Given the description of an element on the screen output the (x, y) to click on. 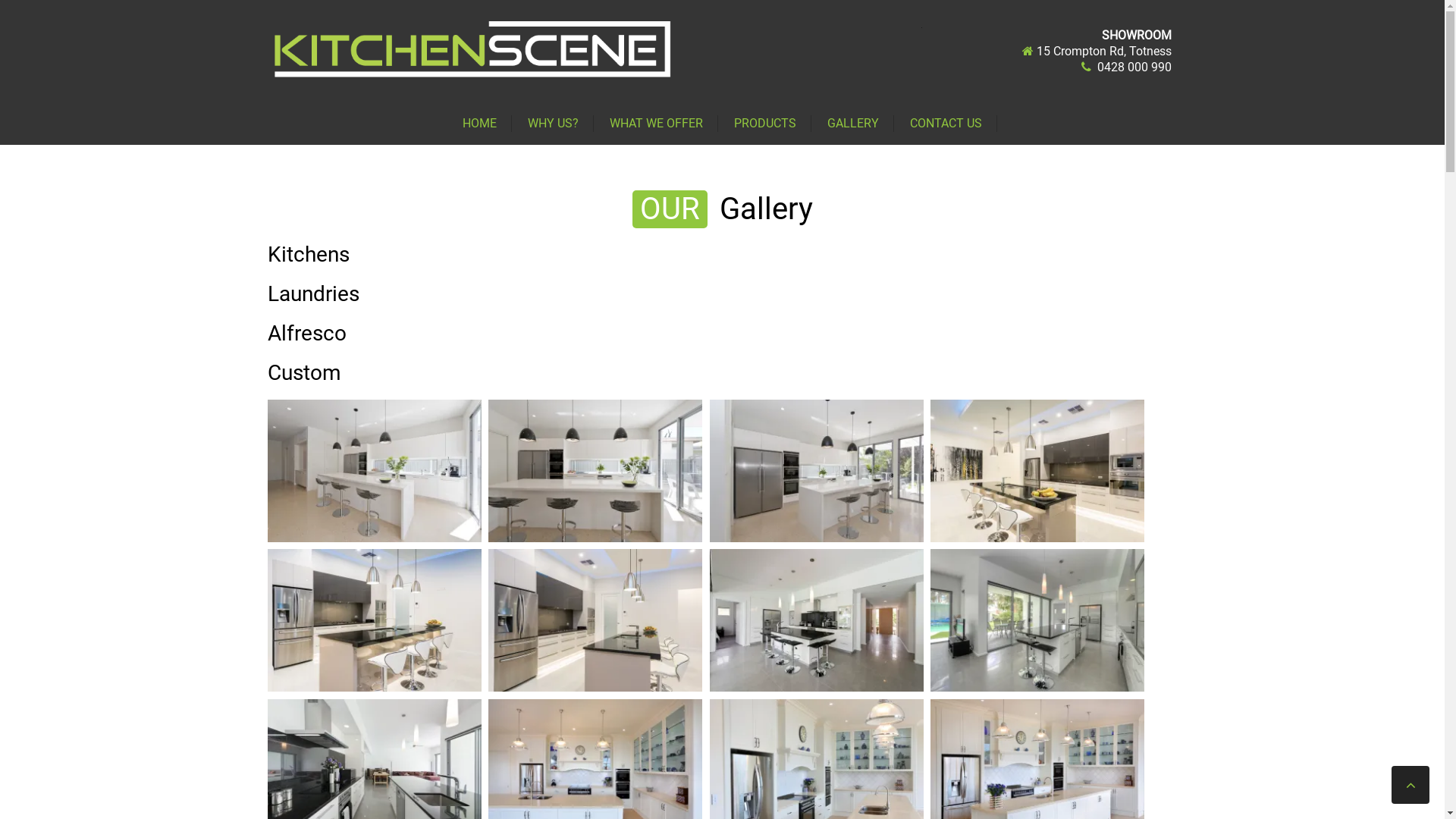
HOME Element type: text (479, 123)
GALLERY Element type: text (853, 123)
Laundries Element type: text (312, 293)
WHY US? Element type: text (552, 123)
CONTACT US Element type: text (945, 123)
Custom Element type: text (303, 372)
PRODUCTS Element type: text (764, 123)
Alfresco Element type: text (305, 332)
WHAT WE OFFER Element type: text (656, 123)
Kitchens Element type: text (307, 253)
